Given the description of an element on the screen output the (x, y) to click on. 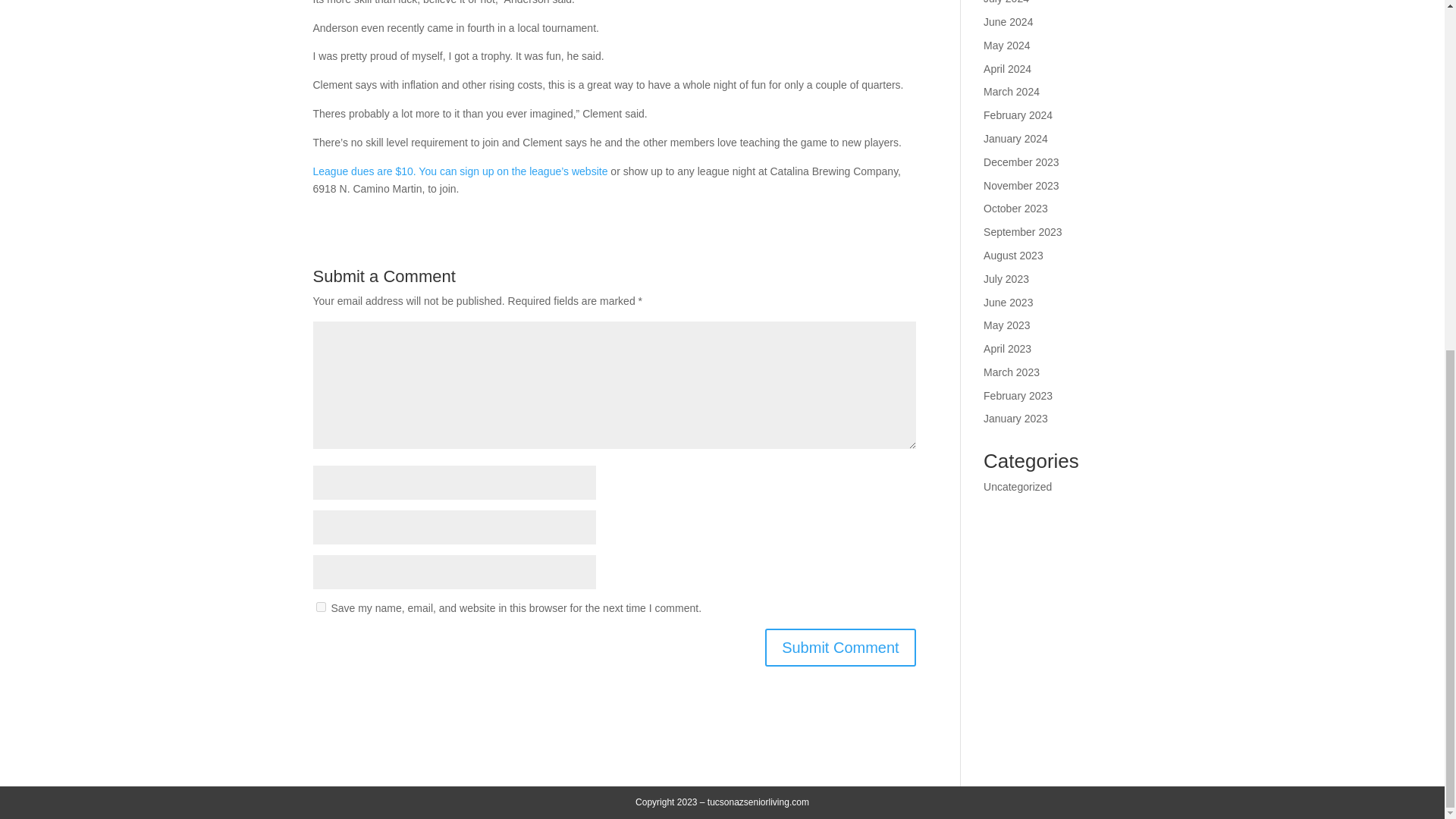
February 2024 (1018, 114)
March 2023 (1011, 372)
June 2023 (1008, 301)
January 2023 (1016, 418)
Submit Comment (840, 647)
Uncategorized (1017, 486)
June 2024 (1008, 21)
February 2023 (1018, 395)
December 2023 (1021, 162)
September 2023 (1023, 232)
